Given the description of an element on the screen output the (x, y) to click on. 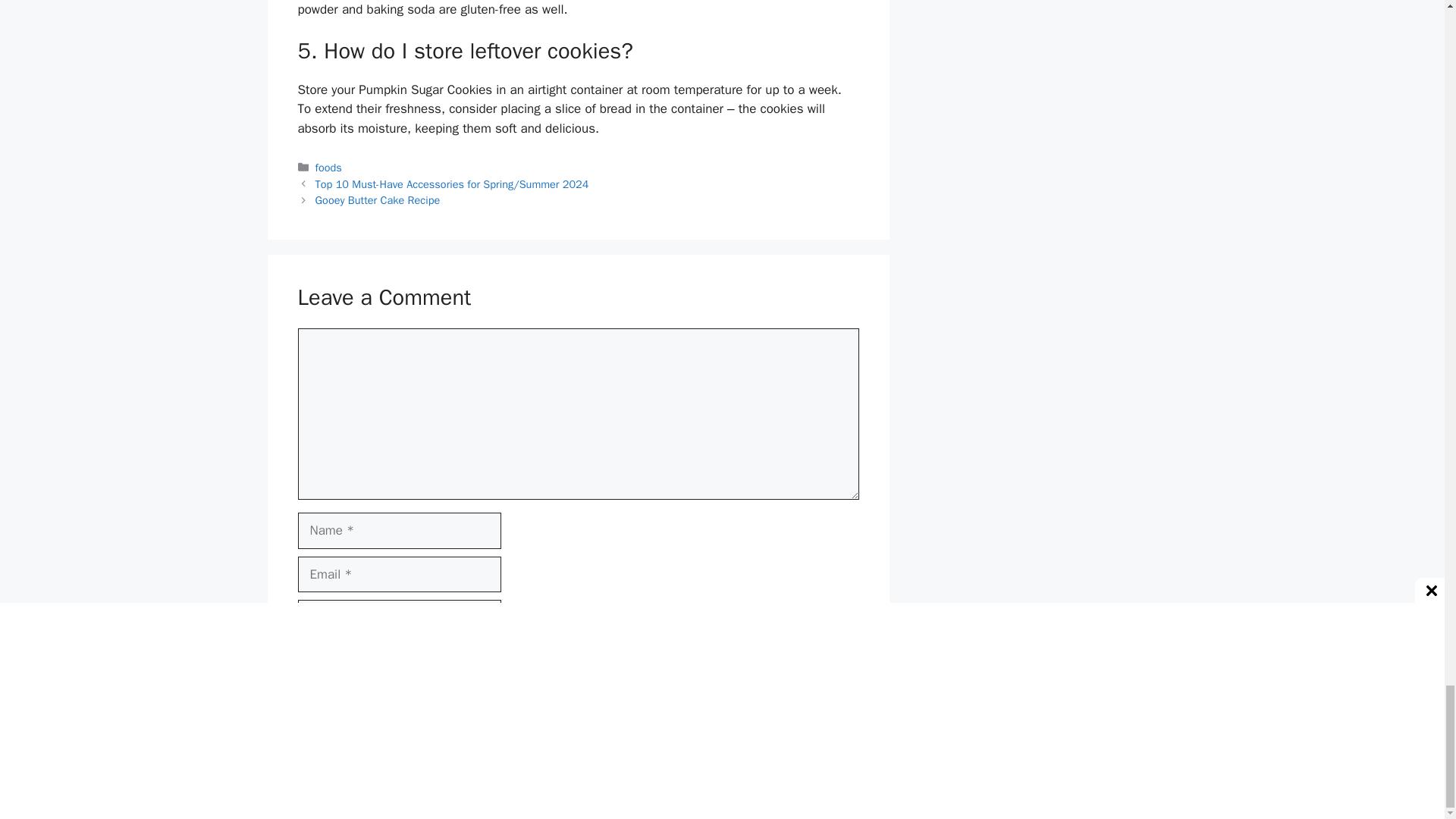
Post Comment (354, 700)
yes (302, 653)
Post Comment (354, 700)
Gooey Butter Cake Recipe (378, 200)
foods (328, 167)
GeneratePress (815, 794)
